Given the description of an element on the screen output the (x, y) to click on. 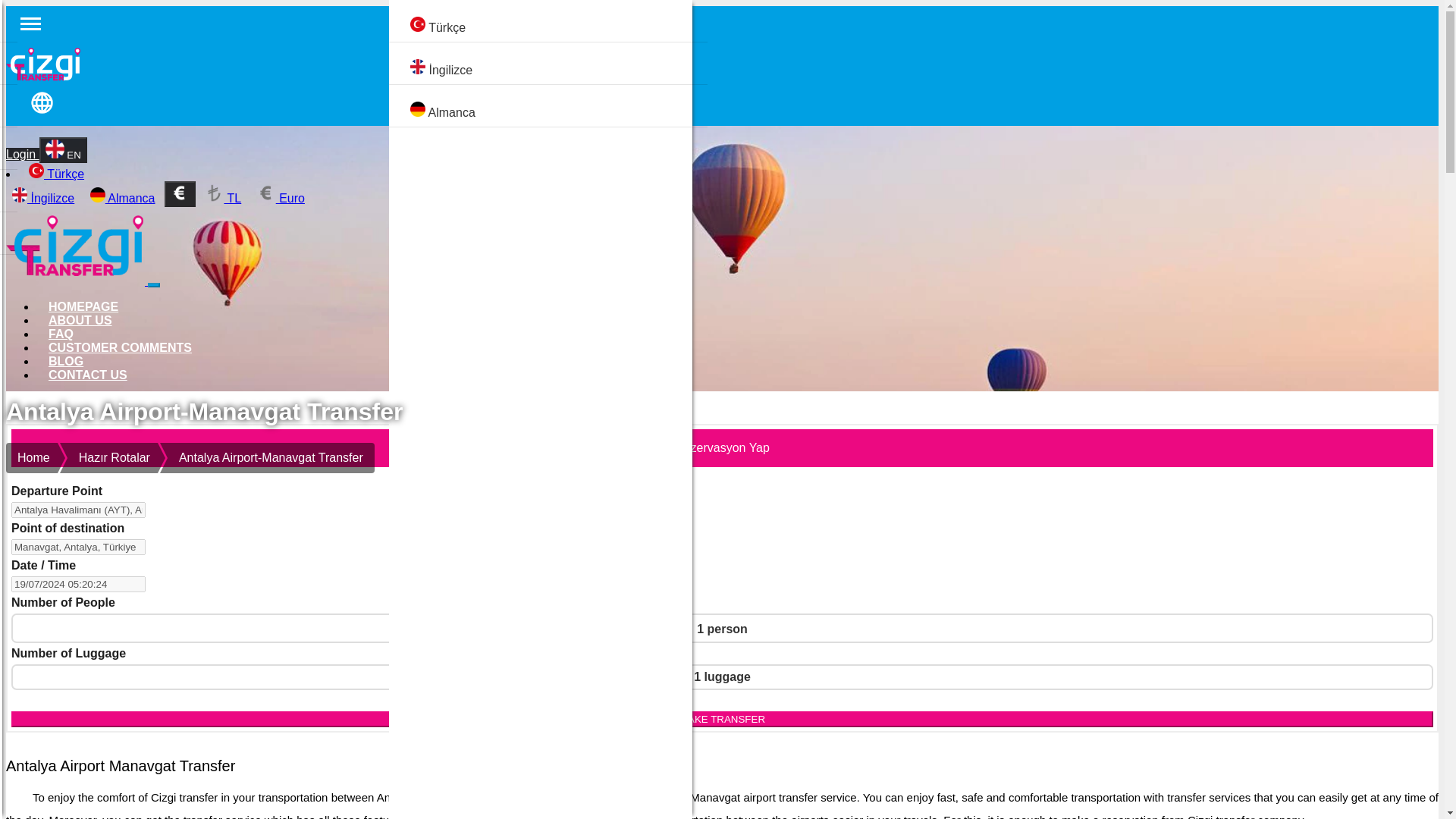
CUSTOMER COMMENTS (119, 347)
ABOUT US (79, 319)
Almanca (561, 112)
Login (22, 154)
FAQ (60, 333)
Almanca (122, 198)
TL (222, 198)
BLOG (66, 360)
Antalya Airport-Manavgat Transfer (274, 458)
EN (63, 149)
HOMEPAGE (83, 306)
Home (31, 458)
Euro (280, 198)
CONTACT US (87, 374)
